Given the description of an element on the screen output the (x, y) to click on. 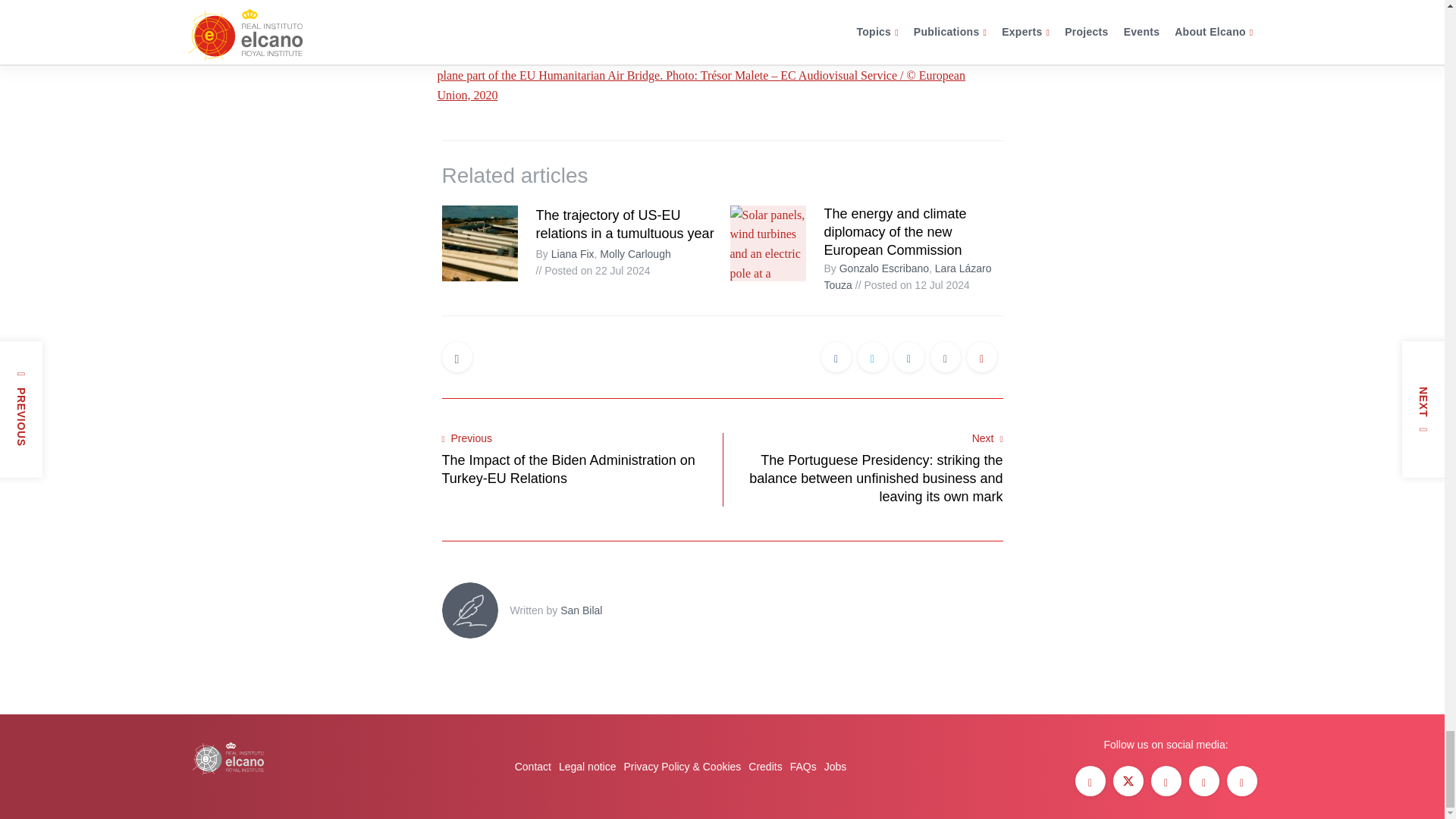
Posted on 22 Jul 2024 (592, 270)
Copy Link (980, 358)
Posted on 12 Jul 2024 (912, 285)
